Given the description of an element on the screen output the (x, y) to click on. 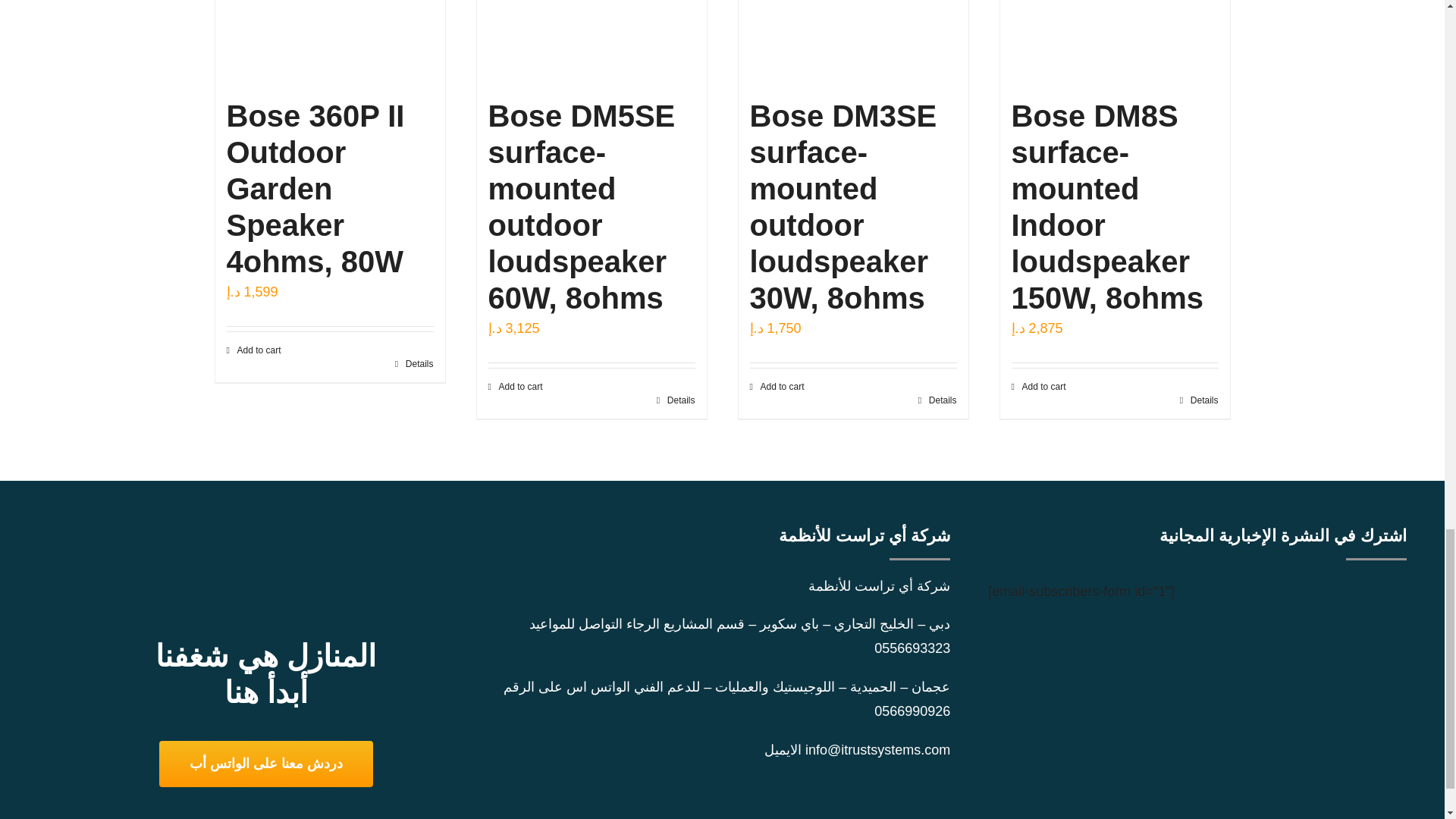
transpa (265, 553)
